Given the description of an element on the screen output the (x, y) to click on. 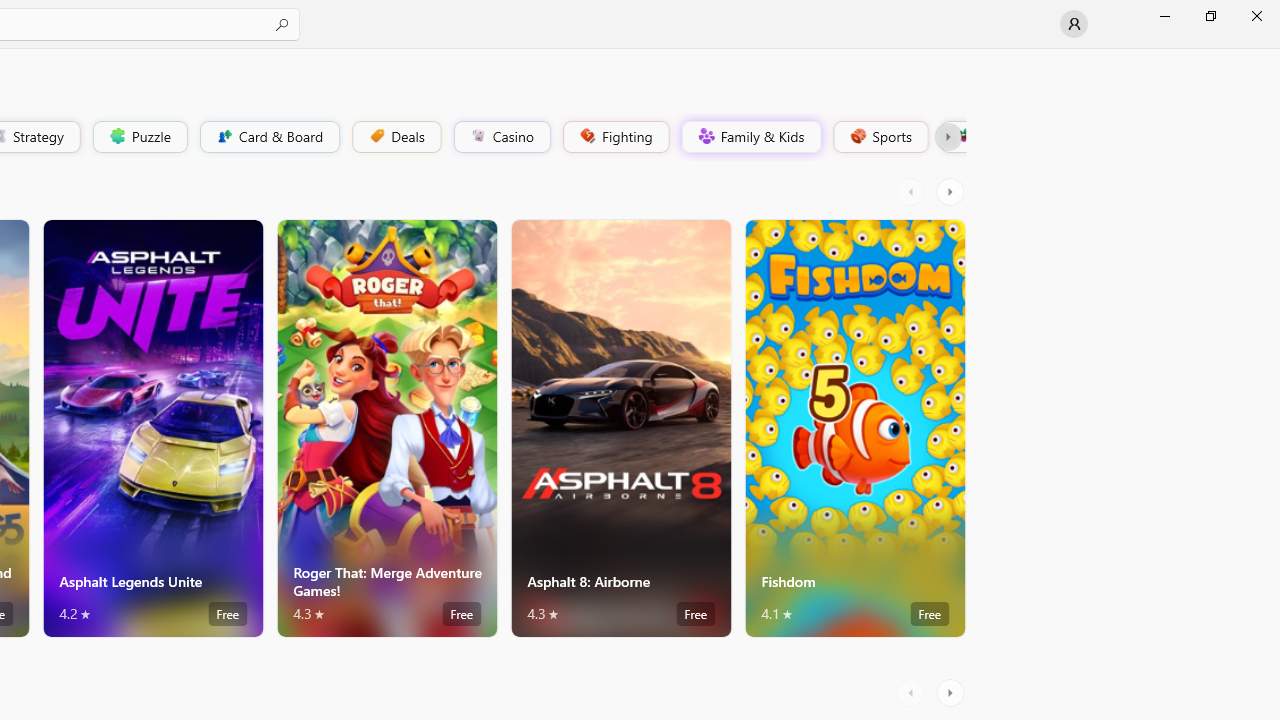
Class: Button (947, 136)
Platformer (952, 136)
Puzzle (139, 136)
AutomationID: LeftScrollButton (913, 692)
Sports (879, 136)
